Given the description of an element on the screen output the (x, y) to click on. 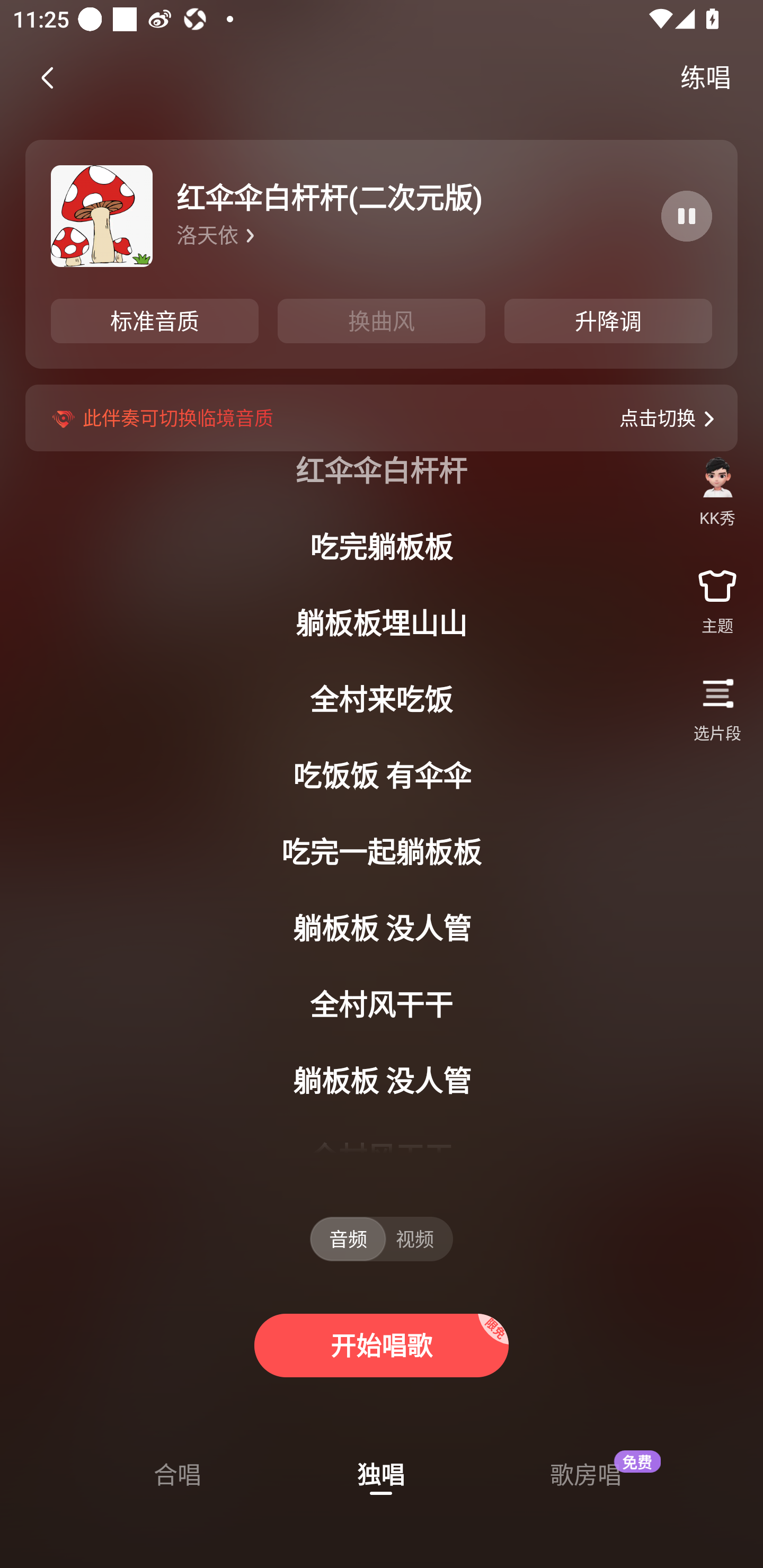
练唱 (705, 77)
返回 (49, 78)
暂停 (686, 216)
洛天依 (414, 235)
标准音质 (154, 321)
换曲风 (381, 321)
升降调 (607, 321)
此伴奏可切换临境音质 点击切换 (381, 417)
红伞伞白杆杆 (381, 470)
KK秀 (716, 492)
吃完躺板板 (381, 546)
主题 (717, 582)
躺板板埋山山 (381, 622)
全村来吃饭 (381, 698)
选片段 (717, 708)
吃饭饭 有伞伞 (381, 774)
吃完一起躺板板 (381, 851)
躺板板 没人管 (381, 927)
全村风干干 (381, 1003)
躺板板 没人管 (381, 1080)
音频 视频 (381, 1238)
开始唱歌 (381, 1344)
合唱 (177, 1475)
独唱 (380, 1475)
歌房唱 (584, 1475)
